Given the description of an element on the screen output the (x, y) to click on. 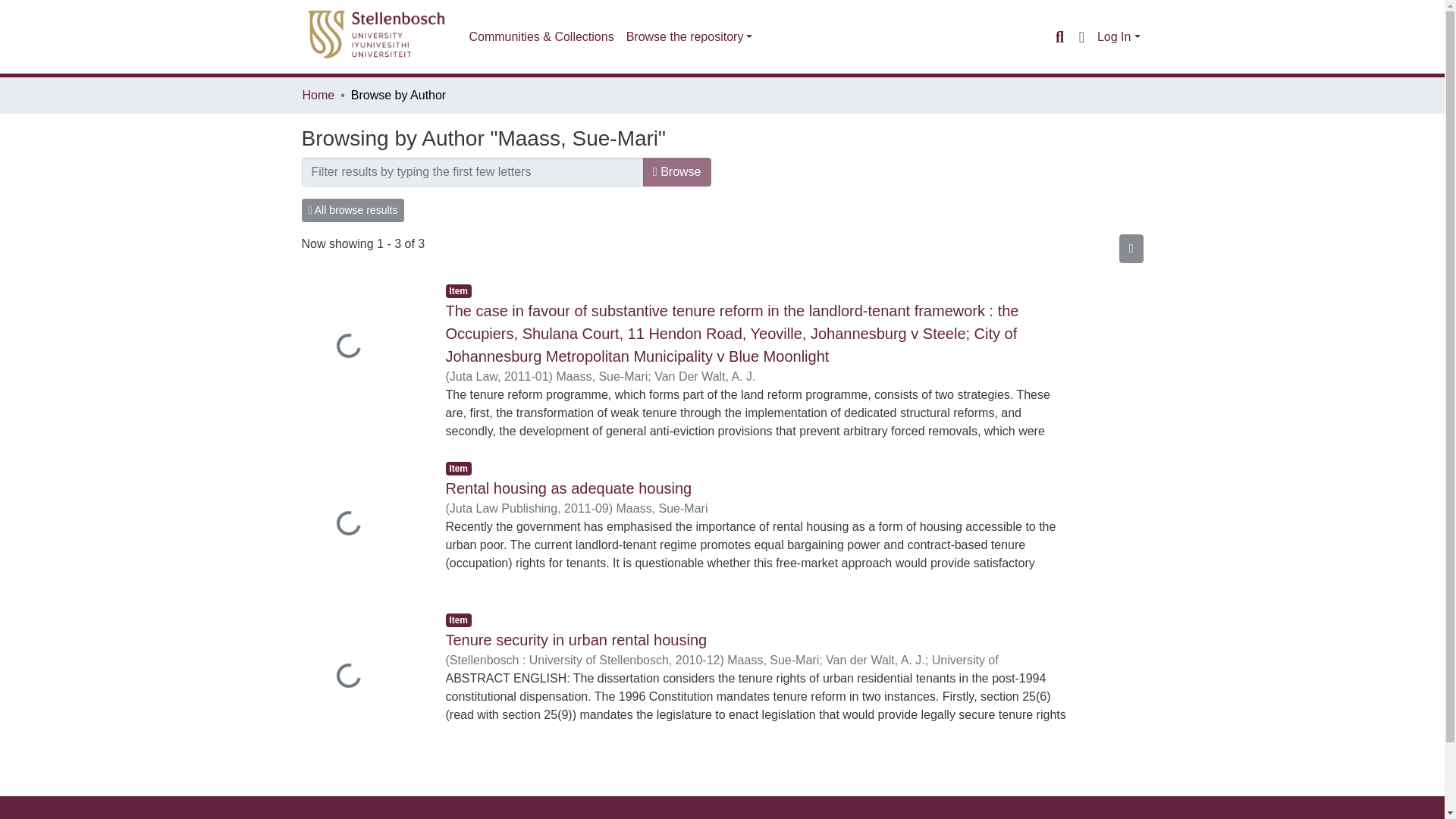
Home (317, 95)
Rental housing as adequate housing (569, 487)
All browse results (352, 210)
Loading... (362, 525)
Search (1058, 36)
Browse the repository (689, 37)
Language switch (1081, 36)
Log In (1118, 36)
Loading... (362, 348)
